Given the description of an element on the screen output the (x, y) to click on. 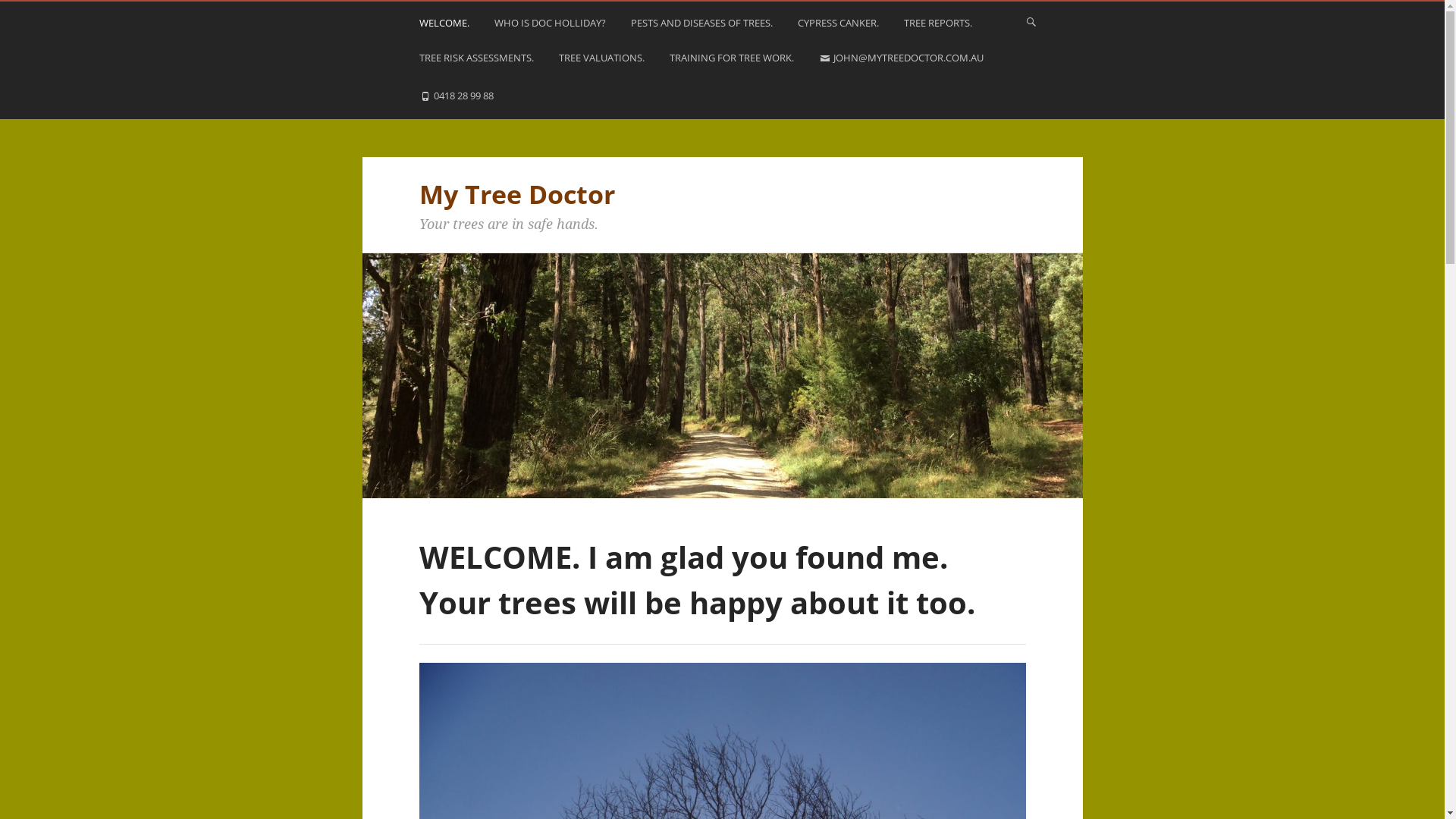
TREE RISK ASSESSMENTS. Element type: text (477, 60)
JOHN@MYTREEDOCTOR.COM.AU Element type: text (903, 62)
WHO IS DOC HOLLIDAY? Element type: text (551, 26)
TREE VALUATIONS. Element type: text (602, 60)
0418 28 99 88 Element type: text (457, 100)
TREE REPORTS. Element type: text (939, 26)
CYPRESS CANKER. Element type: text (839, 26)
My Tree Doctor Element type: text (516, 193)
WELCOME. Element type: text (445, 26)
Search Element type: text (29, 16)
TRAINING FOR TREE WORK. Element type: text (732, 60)
PESTS AND DISEASES OF TREES. Element type: text (703, 26)
